Given the description of an element on the screen output the (x, y) to click on. 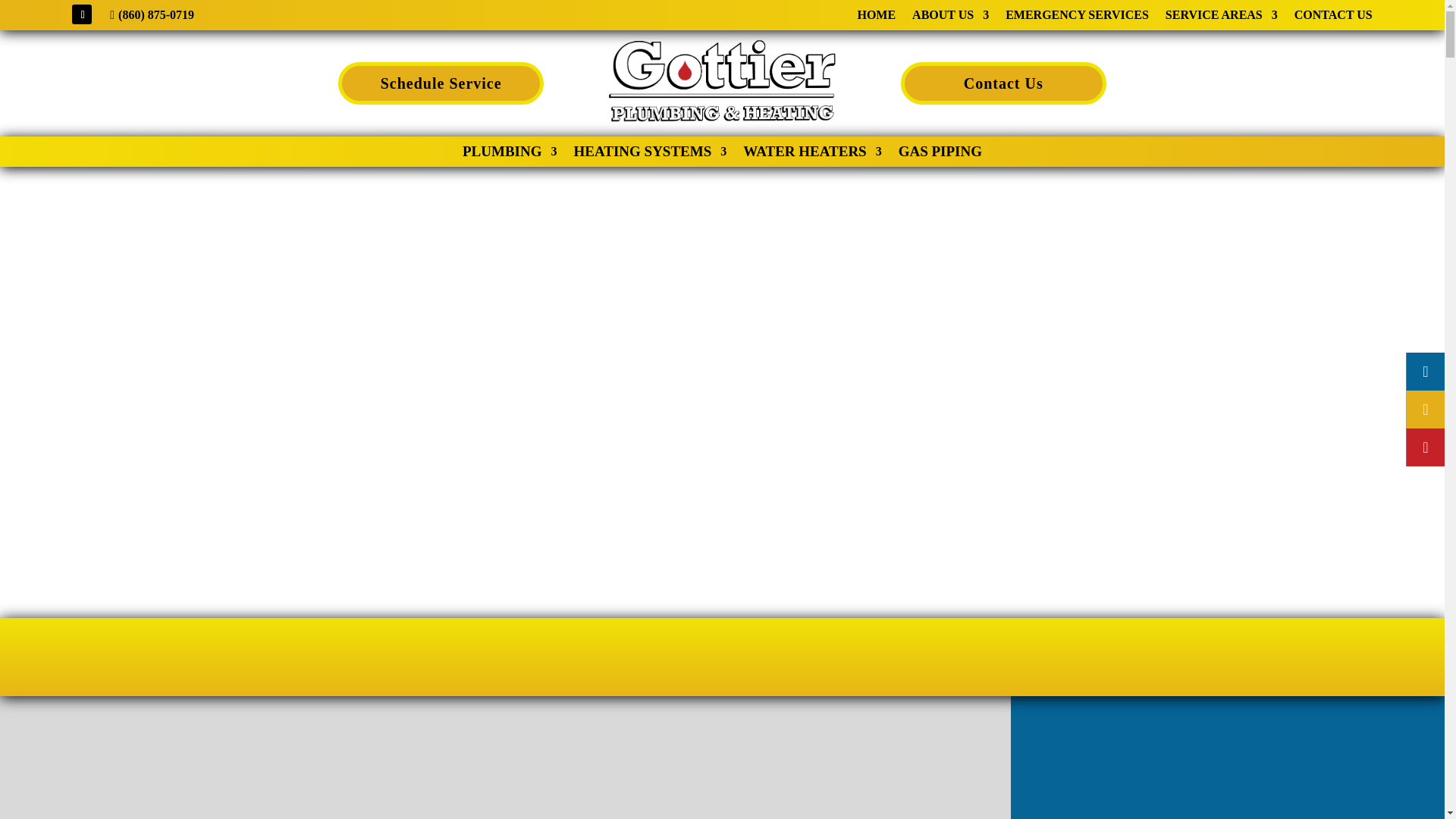
WATER HEATERS (811, 154)
Schedule Service (440, 83)
HEATING SYSTEMS (649, 154)
Contact Us (1003, 83)
GAS PIPING (939, 154)
Follow on Facebook (81, 14)
Gottier Logo (722, 82)
CONTACT US (1333, 17)
HOME (876, 17)
ABOUT US (950, 17)
